Given the description of an element on the screen output the (x, y) to click on. 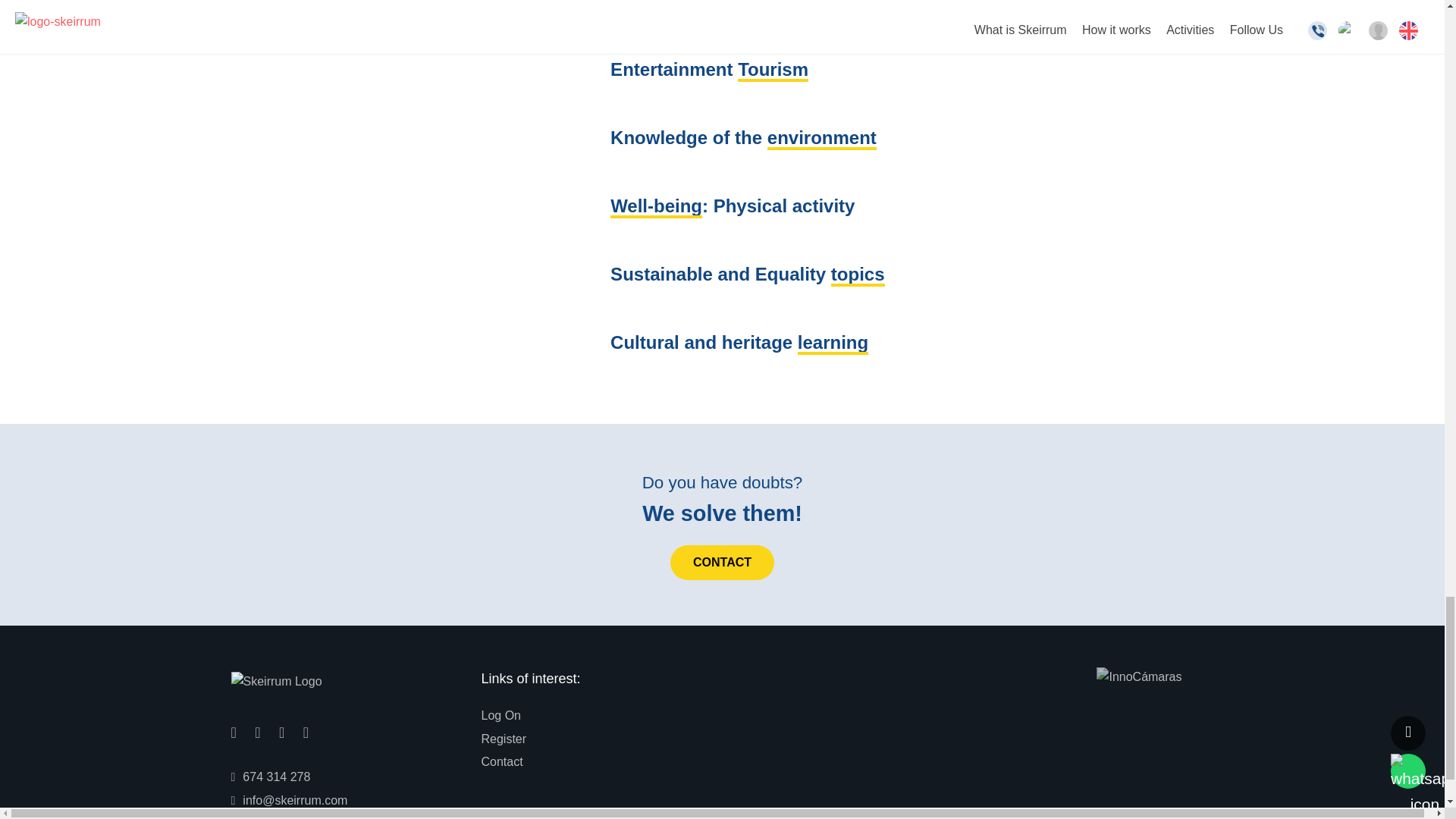
Log On (499, 715)
674 314 278 (270, 777)
Contact (501, 762)
Register (502, 739)
CONTACT (721, 562)
